Given the description of an element on the screen output the (x, y) to click on. 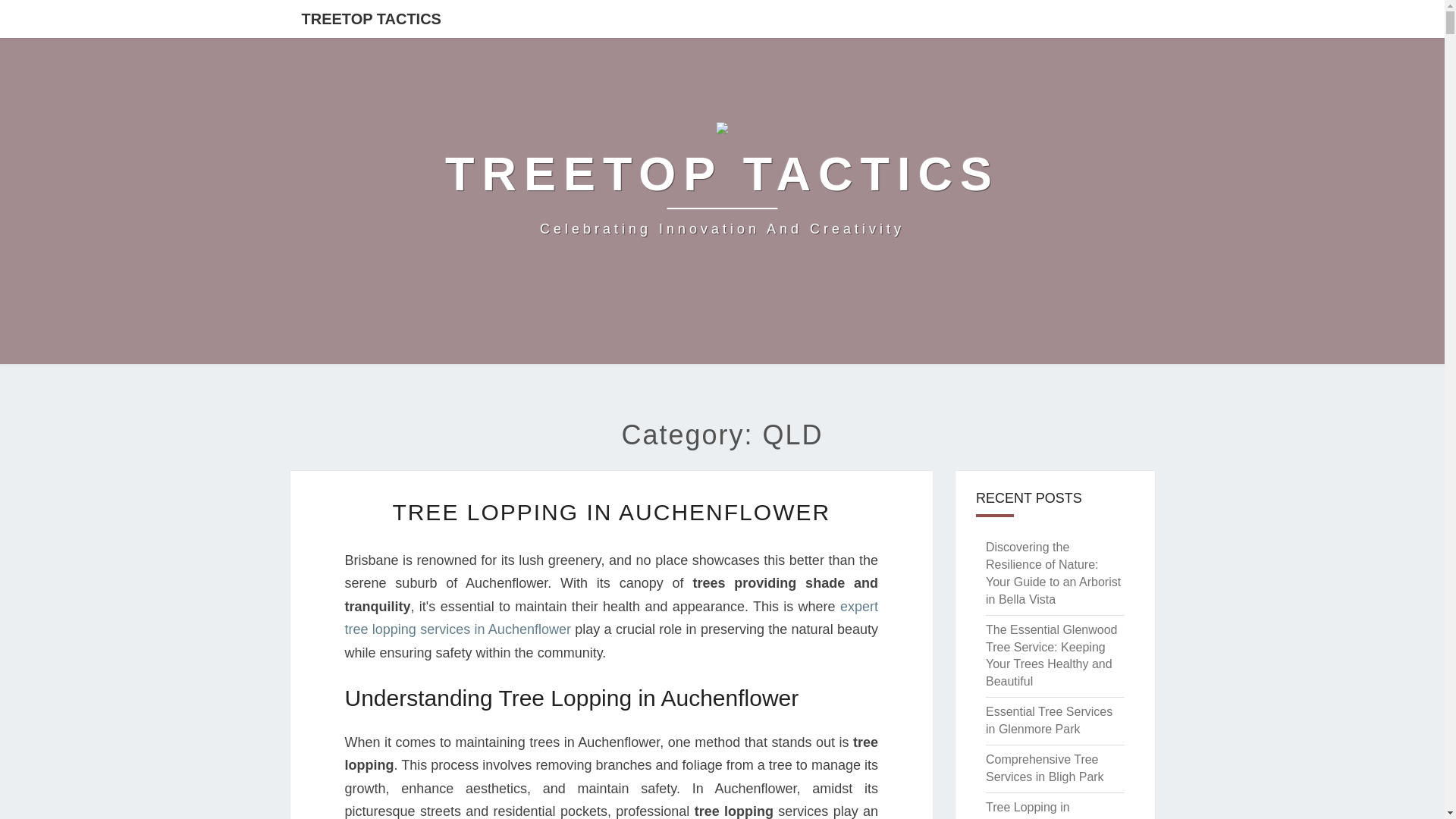
Treetop Tactics (721, 183)
TREETOP TACTICS (721, 183)
expert tree lopping services in Auchenflower (370, 18)
TREE LOPPING IN AUCHENFLOWER (610, 618)
